Given the description of an element on the screen output the (x, y) to click on. 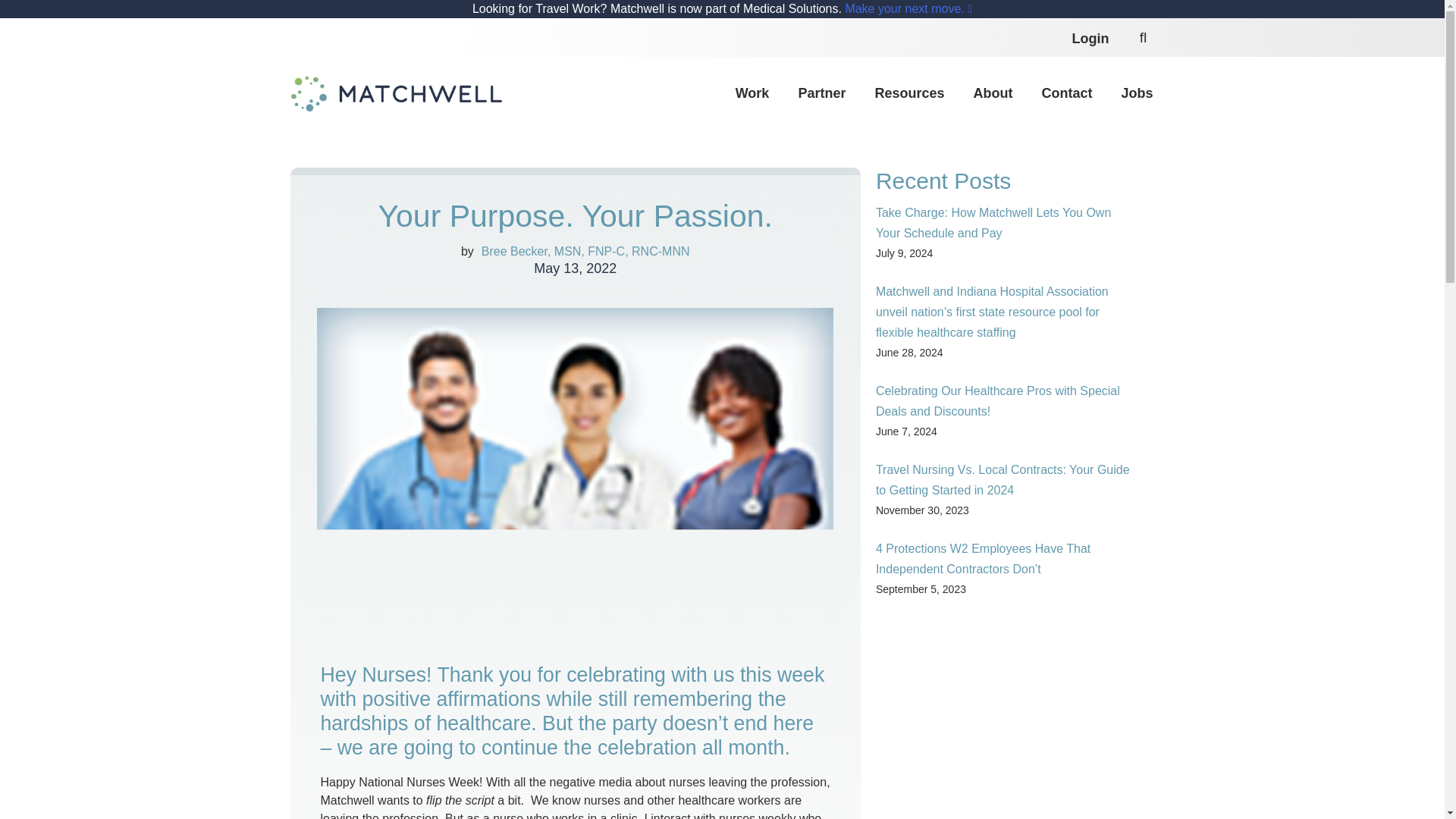
Partner (821, 93)
Jobs (1136, 93)
About (992, 93)
Contact (1066, 93)
Resources (908, 93)
Login (1090, 38)
Make your next move.  (908, 8)
Work (752, 93)
